Given the description of an element on the screen output the (x, y) to click on. 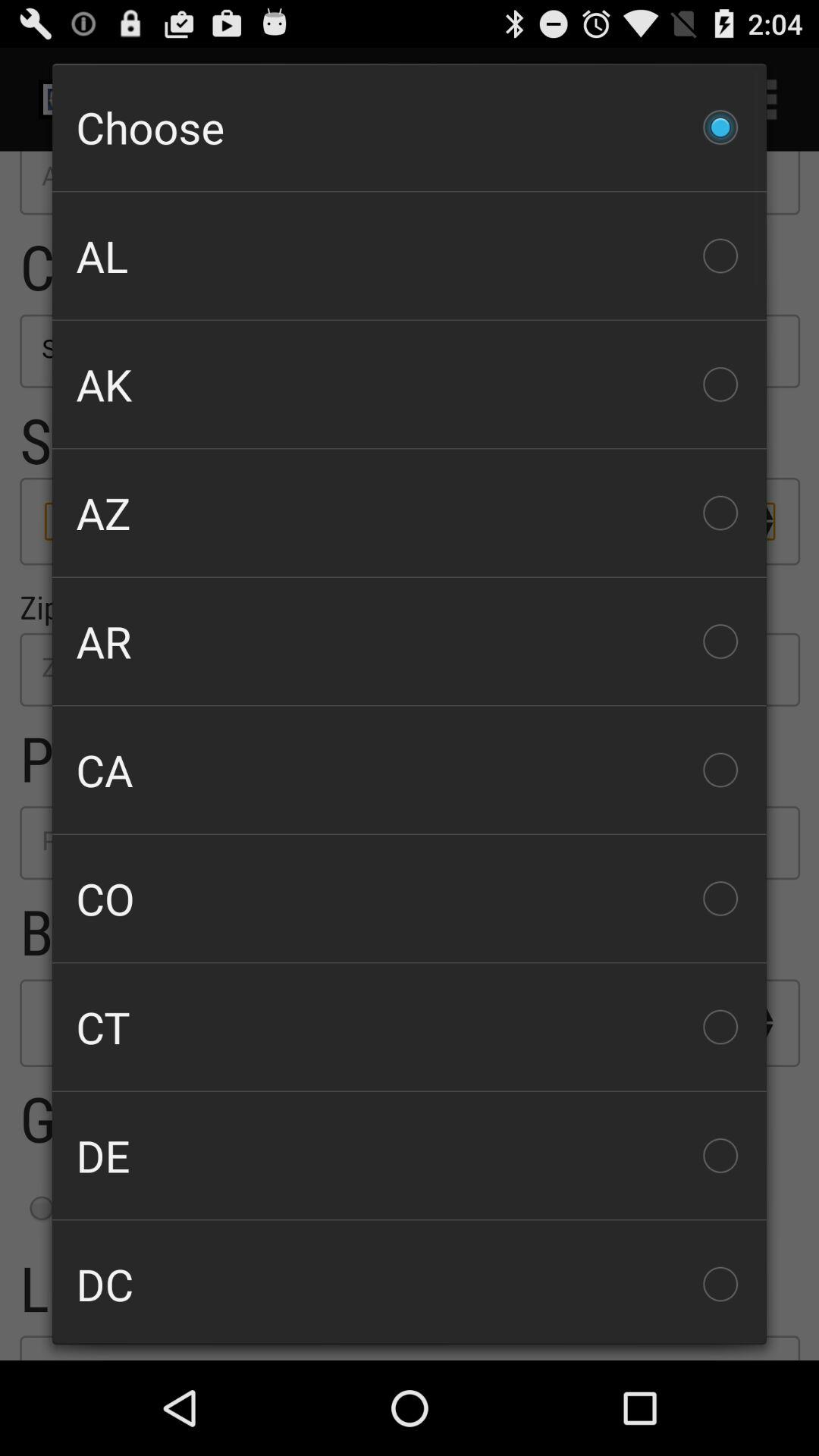
choose the checkbox above the az (409, 384)
